Given the description of an element on the screen output the (x, y) to click on. 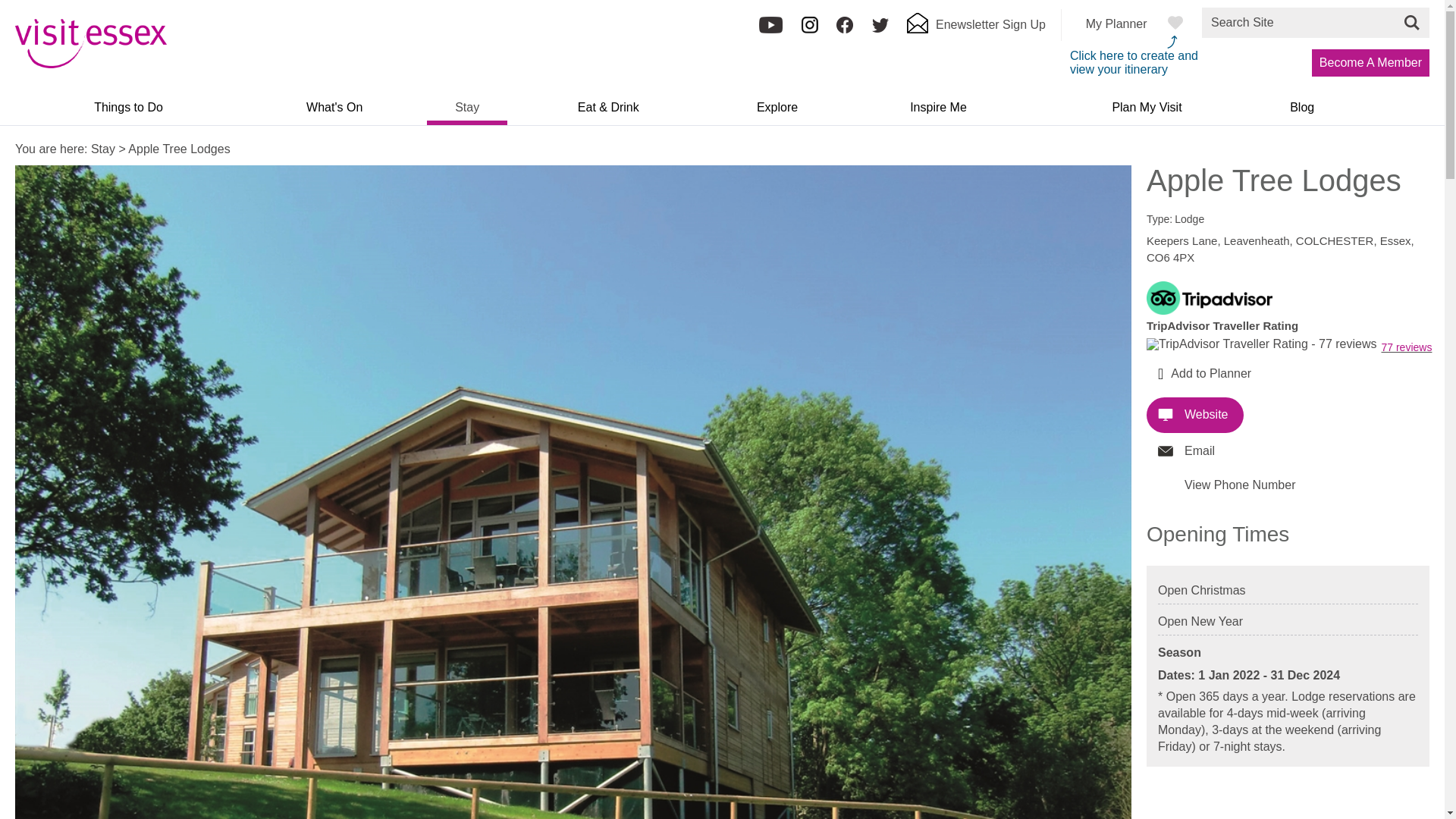
Become A Member (1370, 62)
Visit Essex Instagram (810, 30)
Visit Essex youtube (770, 30)
Things to Do (127, 112)
Things to Do (127, 112)
Enewsletter Sign Up (976, 29)
Visit Essex Newsletter Sign Up (976, 29)
Visit Essex Twitter (880, 30)
Visit Essex Facebook (844, 30)
Return to Homepage (90, 63)
